Given the description of an element on the screen output the (x, y) to click on. 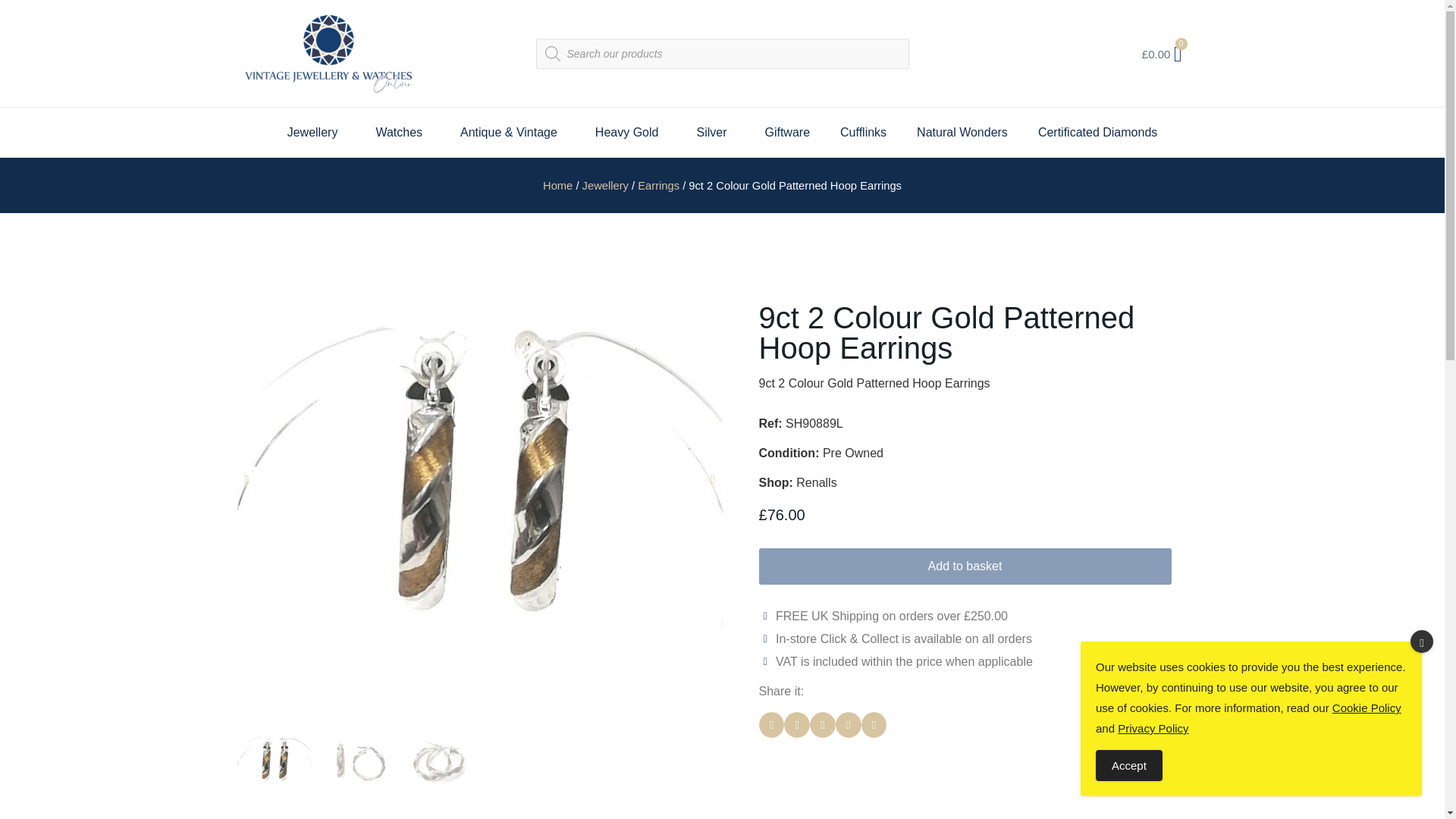
dav (117, 480)
Silver (715, 132)
9ct 2 Colour Gold Patterned Hoop Earrings (273, 760)
Watches (402, 132)
dav (438, 760)
Jewellery (316, 132)
9ct 2 Colour Gold Patterned Hoop Earrings (355, 760)
Heavy Gold (630, 132)
